Given the description of an element on the screen output the (x, y) to click on. 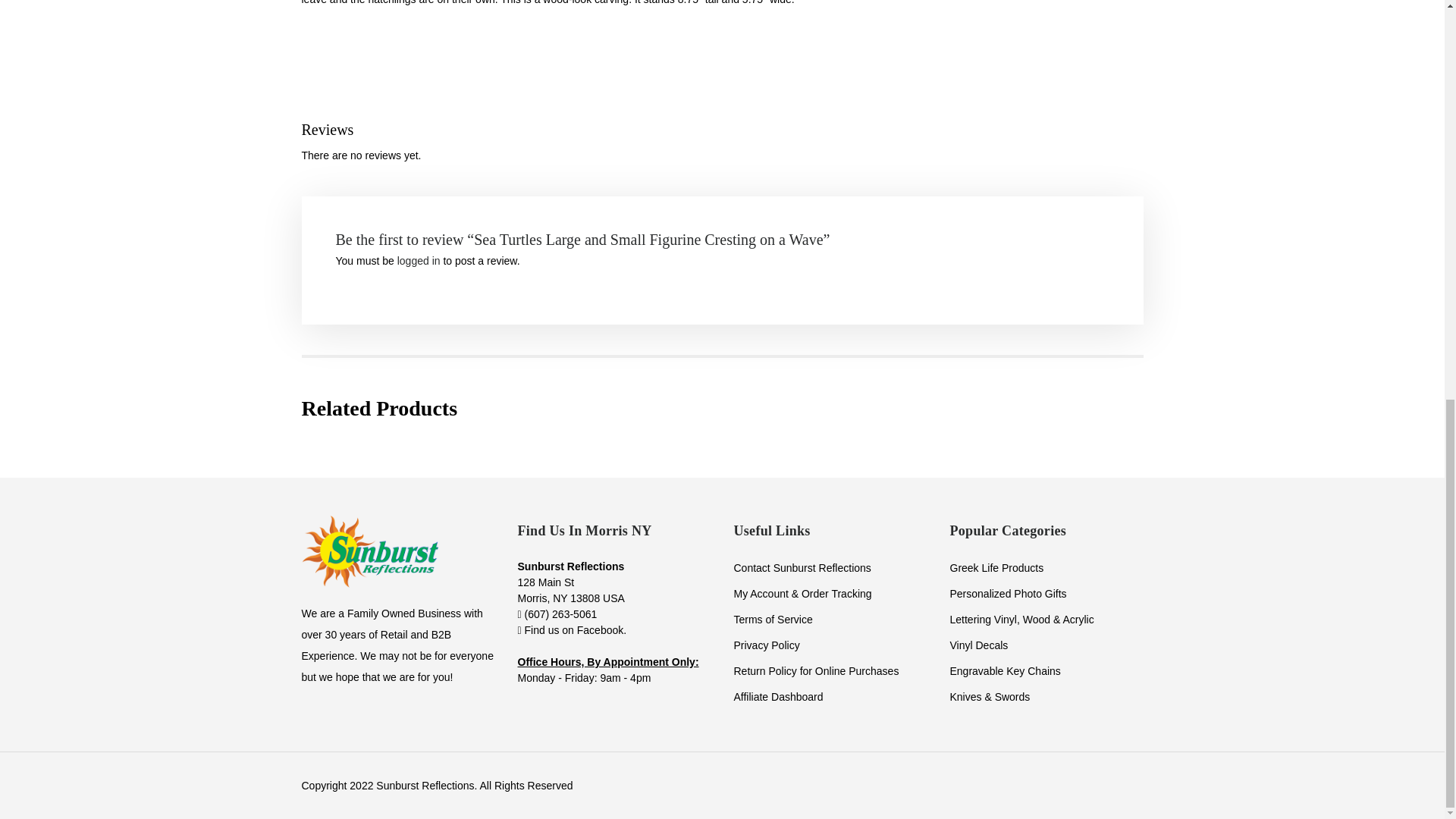
Sunburst Reflections (369, 550)
